Given the description of an element on the screen output the (x, y) to click on. 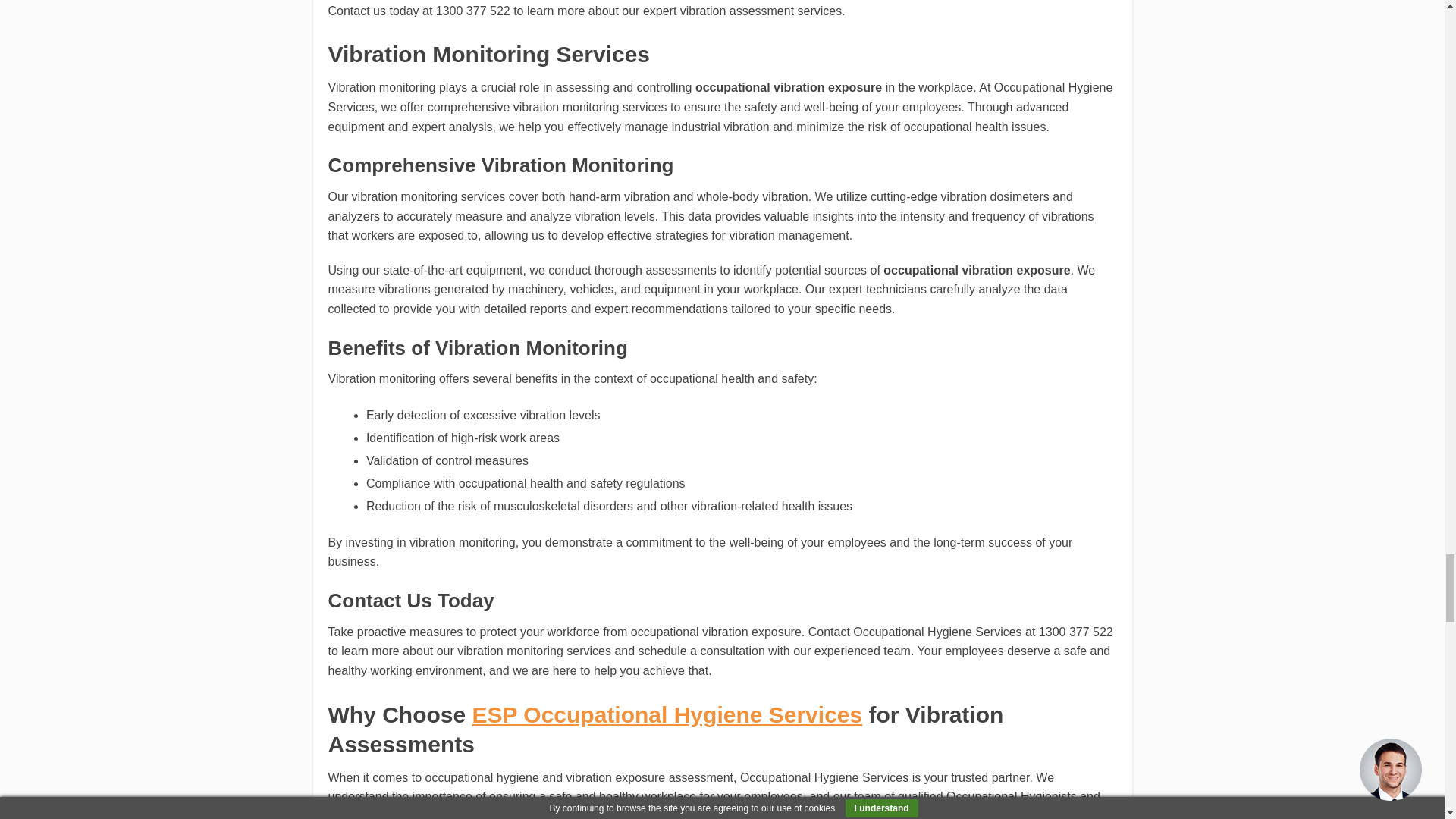
ESP Occupational Hygiene Services (667, 714)
